Given the description of an element on the screen output the (x, y) to click on. 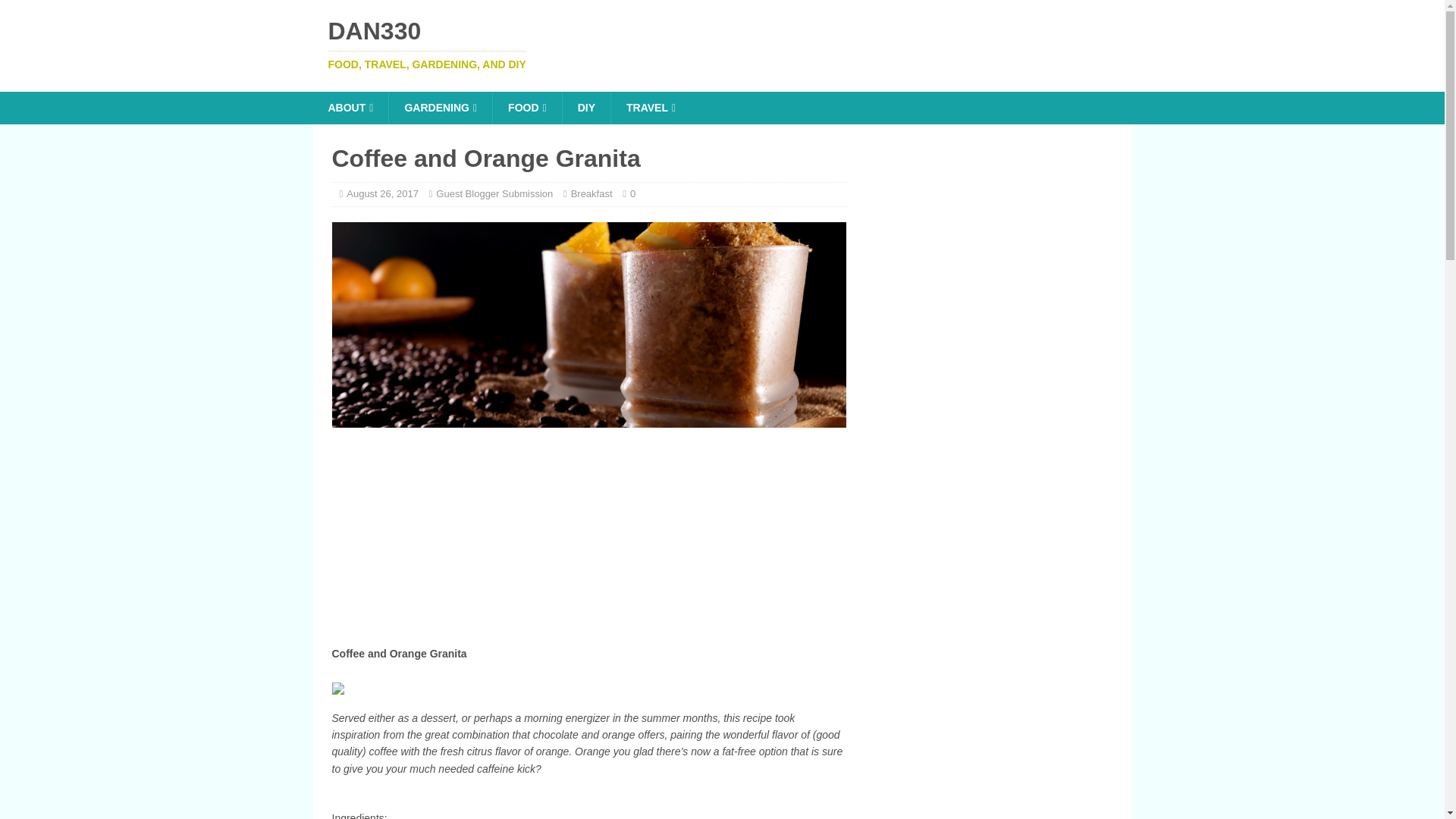
Breakfast (591, 193)
DIY (586, 107)
TRAVEL (721, 44)
ABOUT (650, 107)
Dan330 (350, 107)
Guest Blogger Submission (721, 44)
Advertisement (494, 193)
FOOD (588, 324)
